Given the description of an element on the screen output the (x, y) to click on. 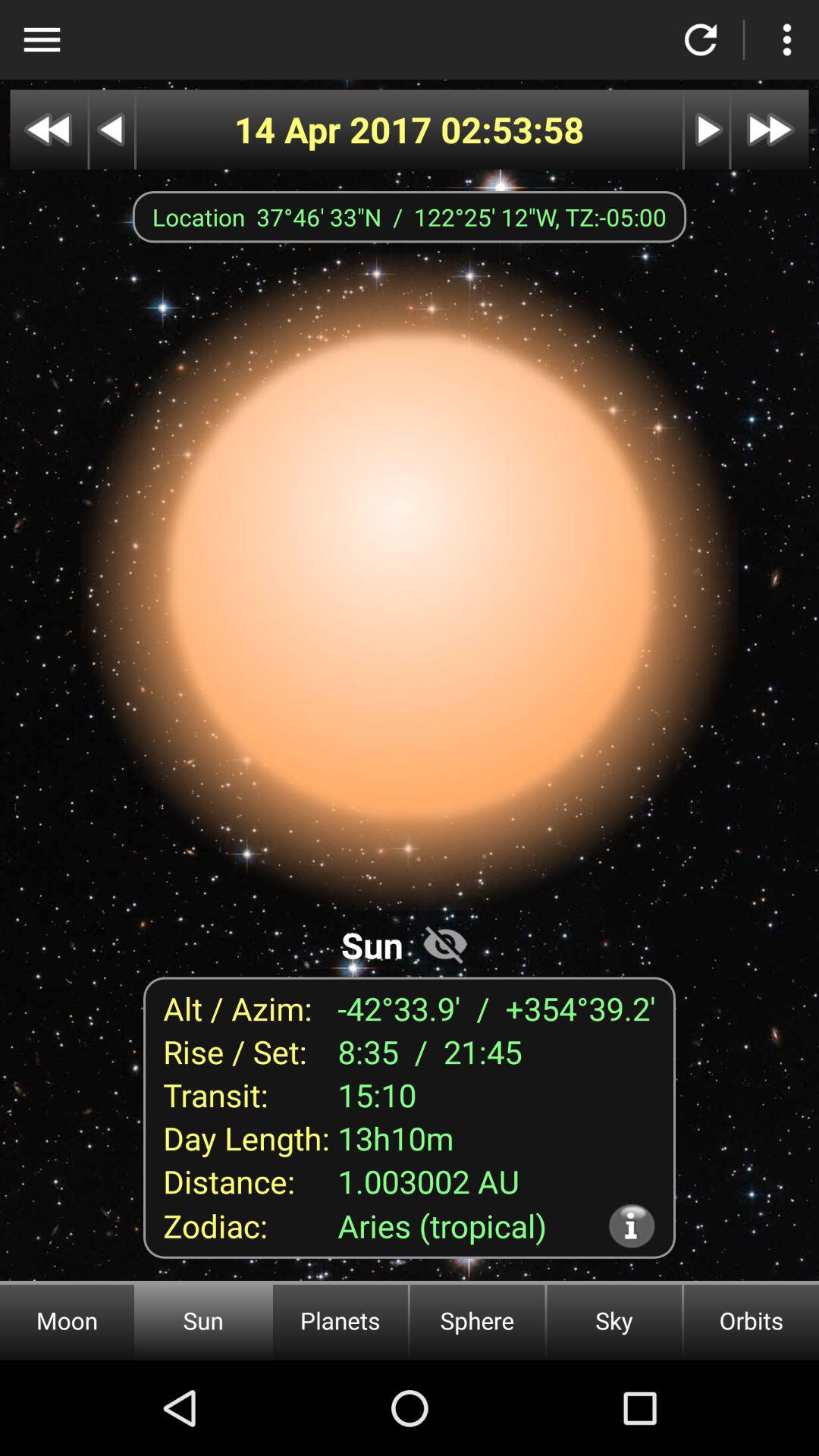
open the item next to the 14 apr 2017 (512, 129)
